Given the description of an element on the screen output the (x, y) to click on. 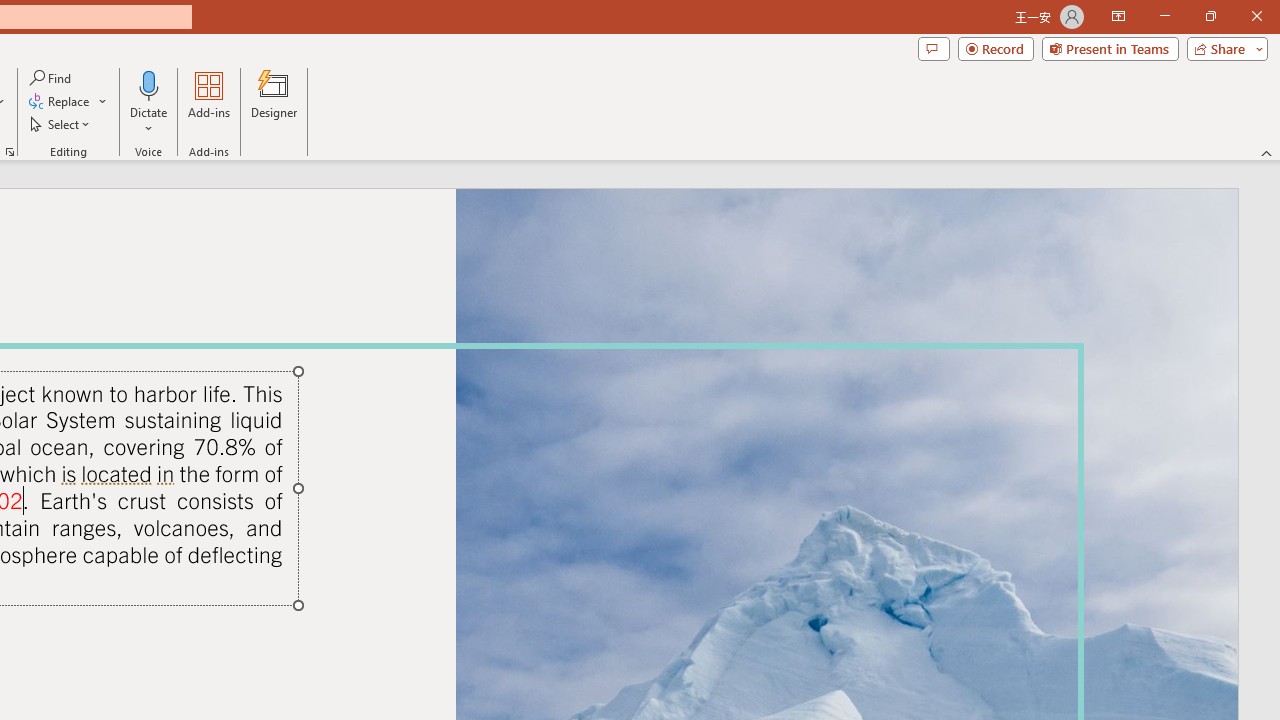
Select (61, 124)
Find... (51, 78)
Format Object... (9, 151)
